Given the description of an element on the screen output the (x, y) to click on. 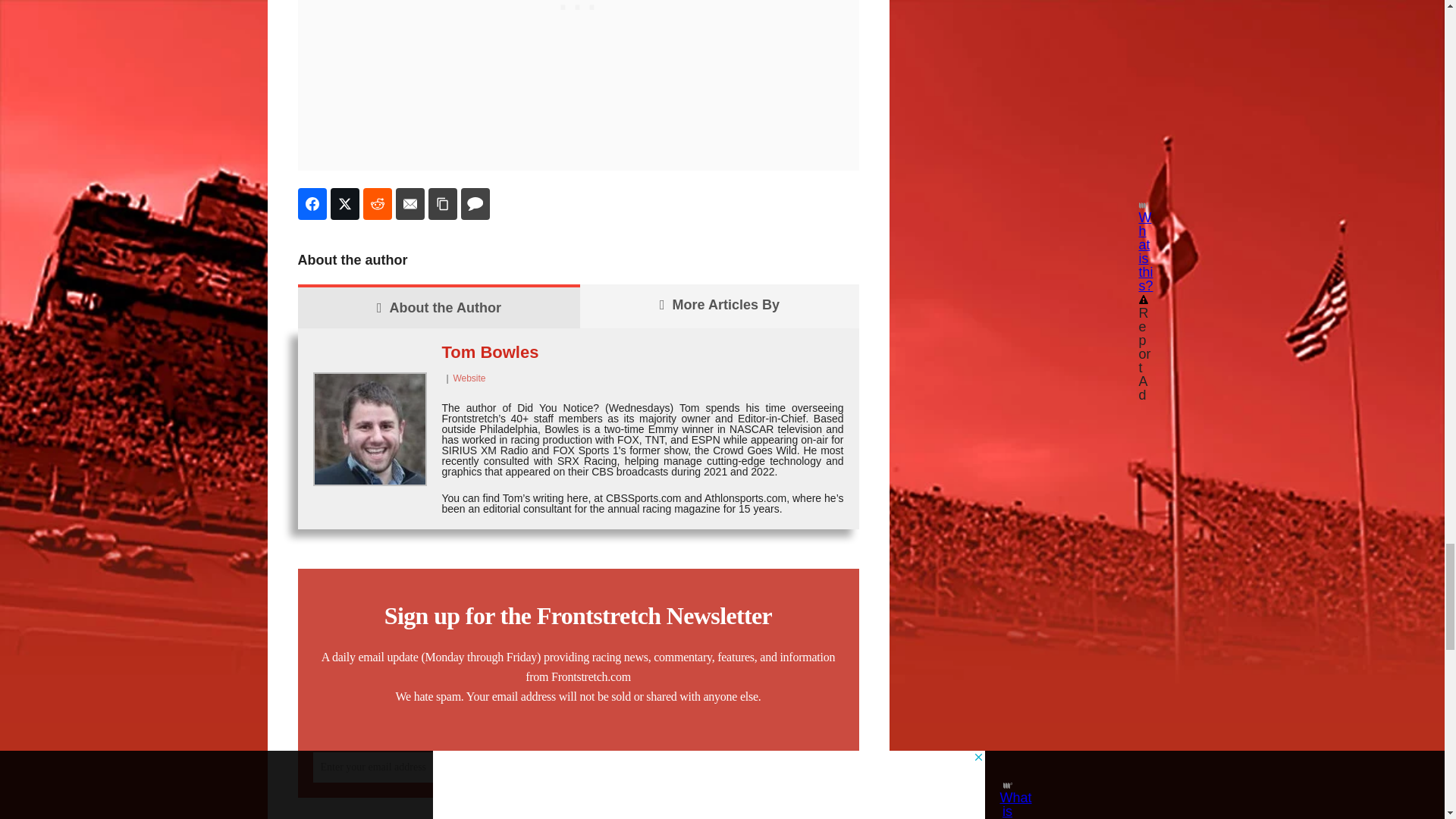
Share on Comments (475, 204)
Share on Reddit (376, 204)
Share on Twitter (344, 204)
Share on Email (410, 204)
Share on Copy Link (442, 204)
Share on Facebook (311, 204)
